Given the description of an element on the screen output the (x, y) to click on. 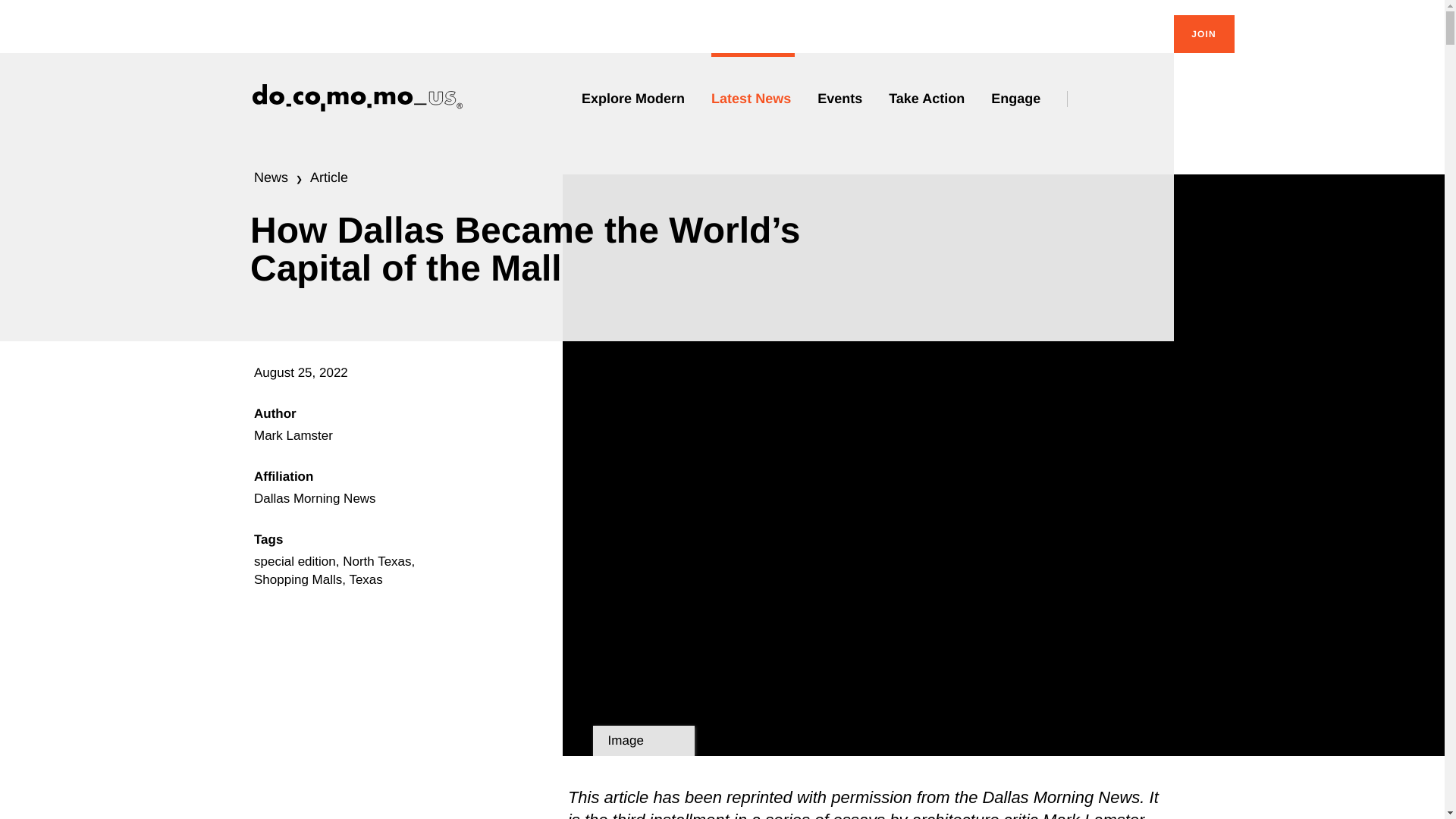
Join (1203, 34)
Image details (643, 740)
Take Action (928, 98)
Explore Modern (634, 98)
Events (841, 98)
Take Action (928, 98)
JOIN (1203, 34)
Article (328, 177)
Events (841, 98)
Latest News (752, 98)
